Given the description of an element on the screen output the (x, y) to click on. 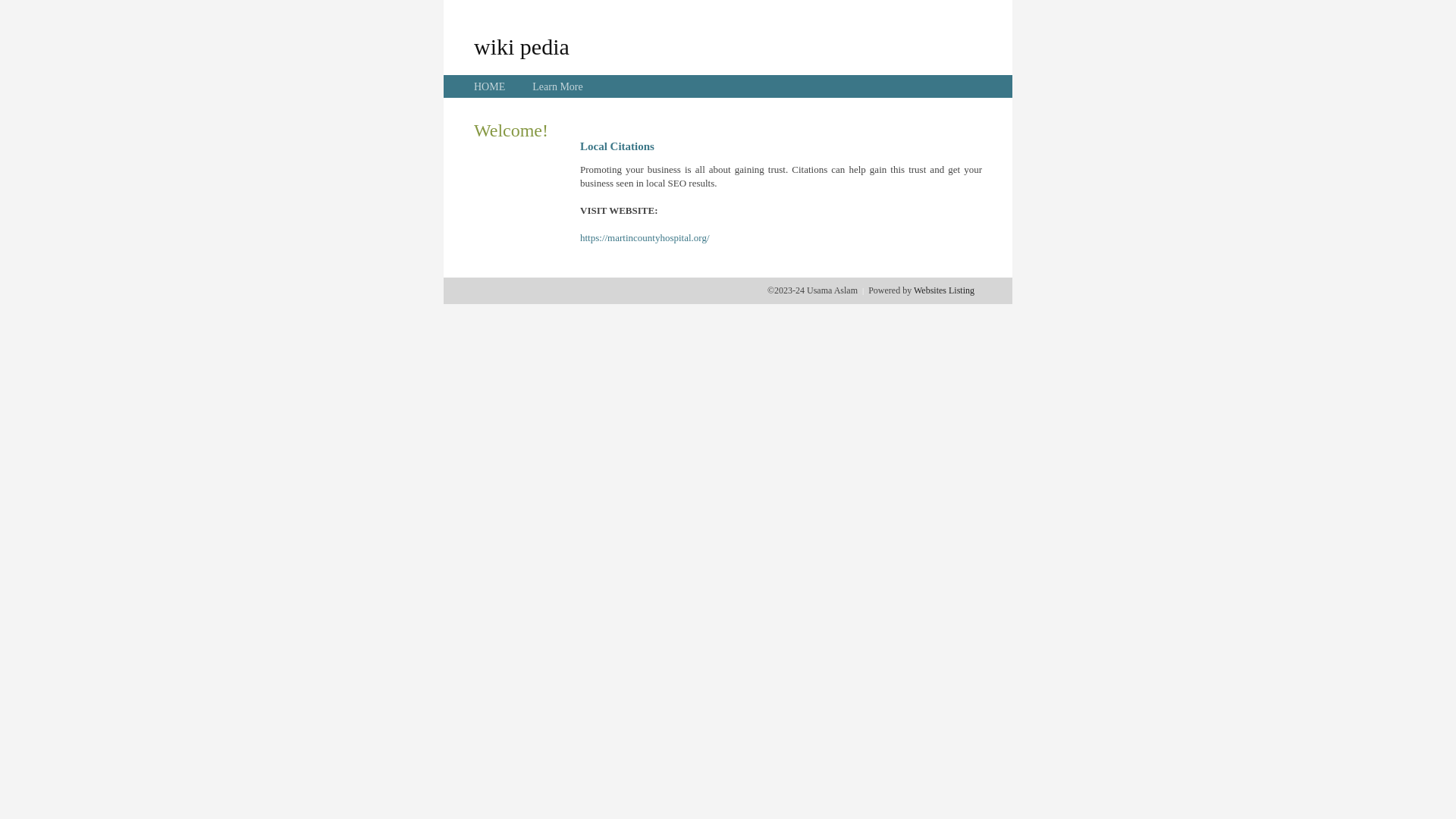
HOME Element type: text (489, 86)
Websites Listing Element type: text (943, 290)
https://martincountyhospital.org/ Element type: text (644, 237)
Learn More Element type: text (557, 86)
wiki pedia Element type: text (521, 46)
